Given the description of an element on the screen output the (x, y) to click on. 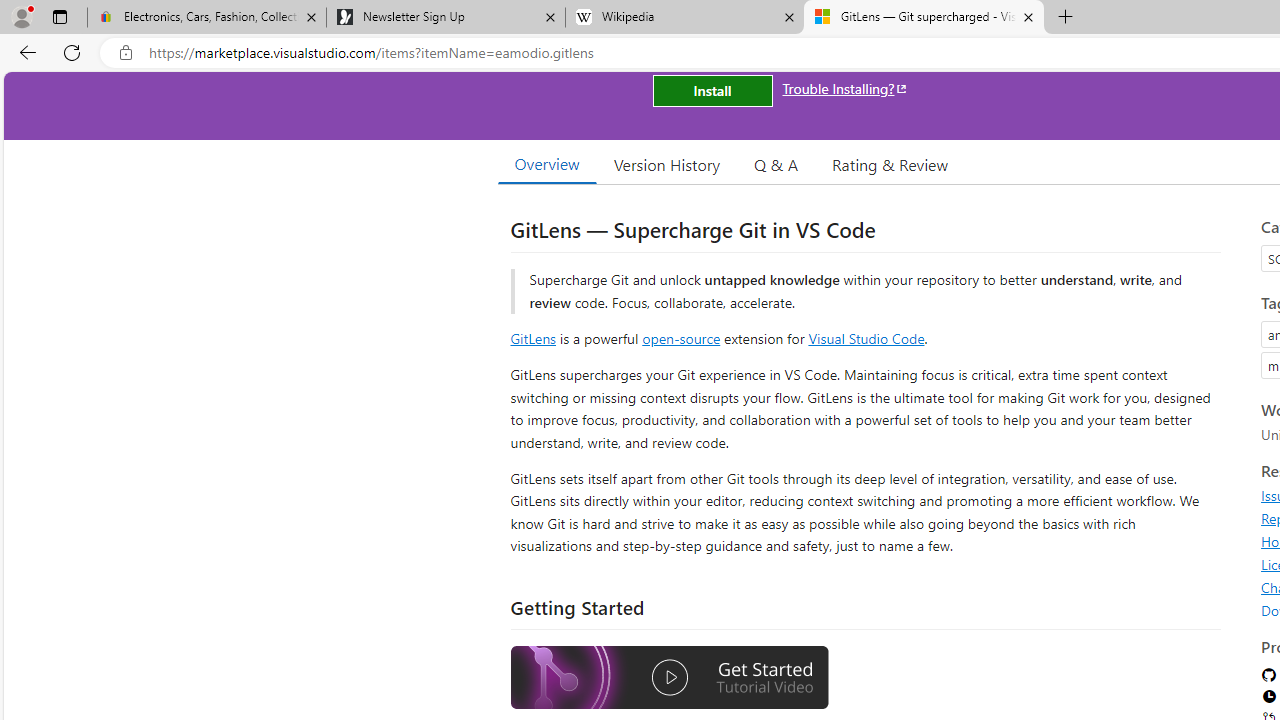
open-source (681, 337)
Version History (667, 164)
Newsletter Sign Up (445, 17)
Install (712, 90)
Overview (546, 164)
Electronics, Cars, Fashion, Collectibles & More | eBay (207, 17)
GitLens (532, 337)
Q & A (776, 164)
